Given the description of an element on the screen output the (x, y) to click on. 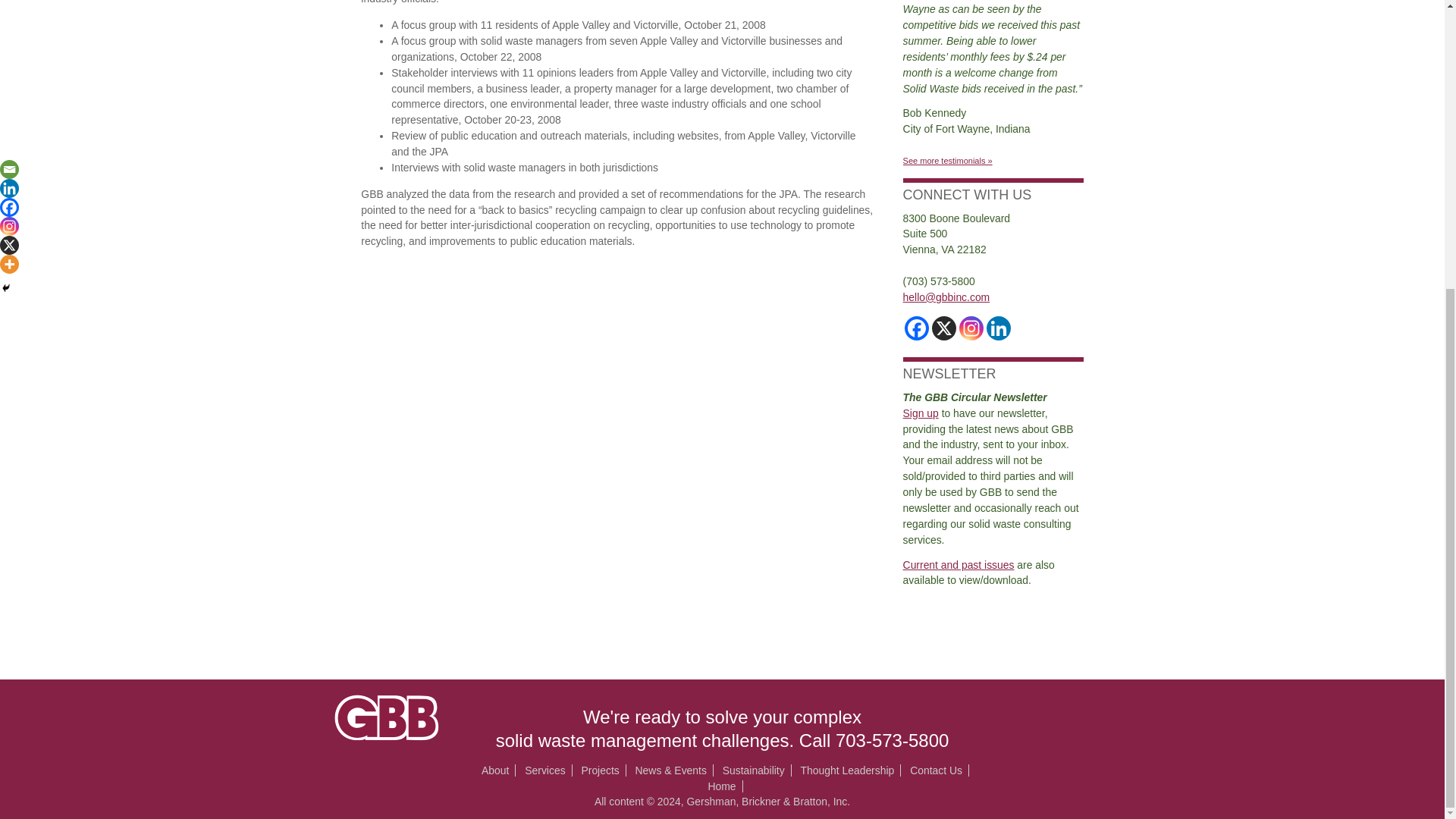
Linkedin Company (998, 328)
X (943, 328)
Instagram (971, 328)
Facebook (916, 328)
